Given the description of an element on the screen output the (x, y) to click on. 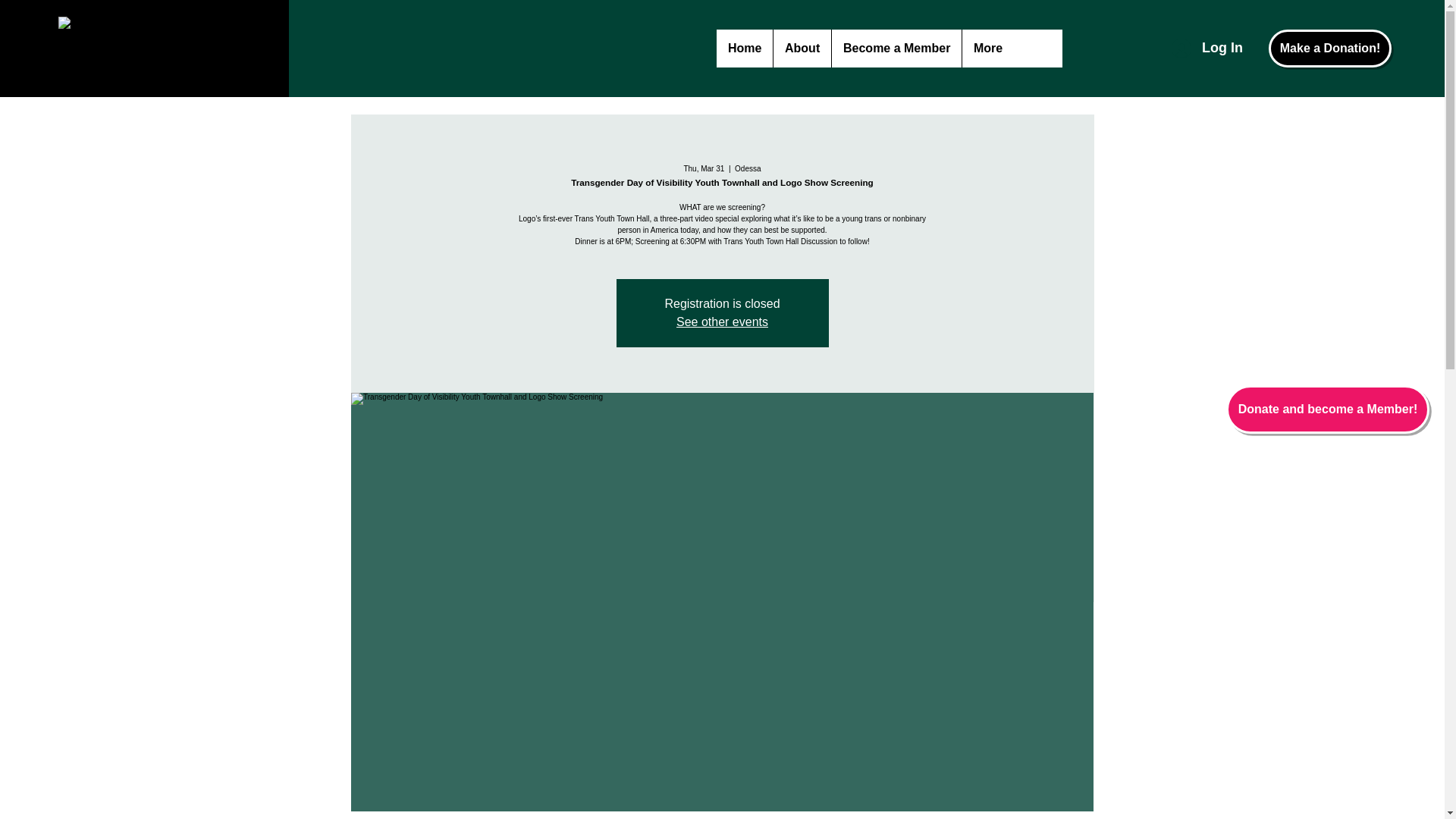
About (802, 48)
Become a Member (895, 48)
See other events (722, 321)
Log In (1206, 48)
Home (744, 48)
Donate and become a Member! (1327, 409)
Make a Donation! (1329, 48)
